Given the description of an element on the screen output the (x, y) to click on. 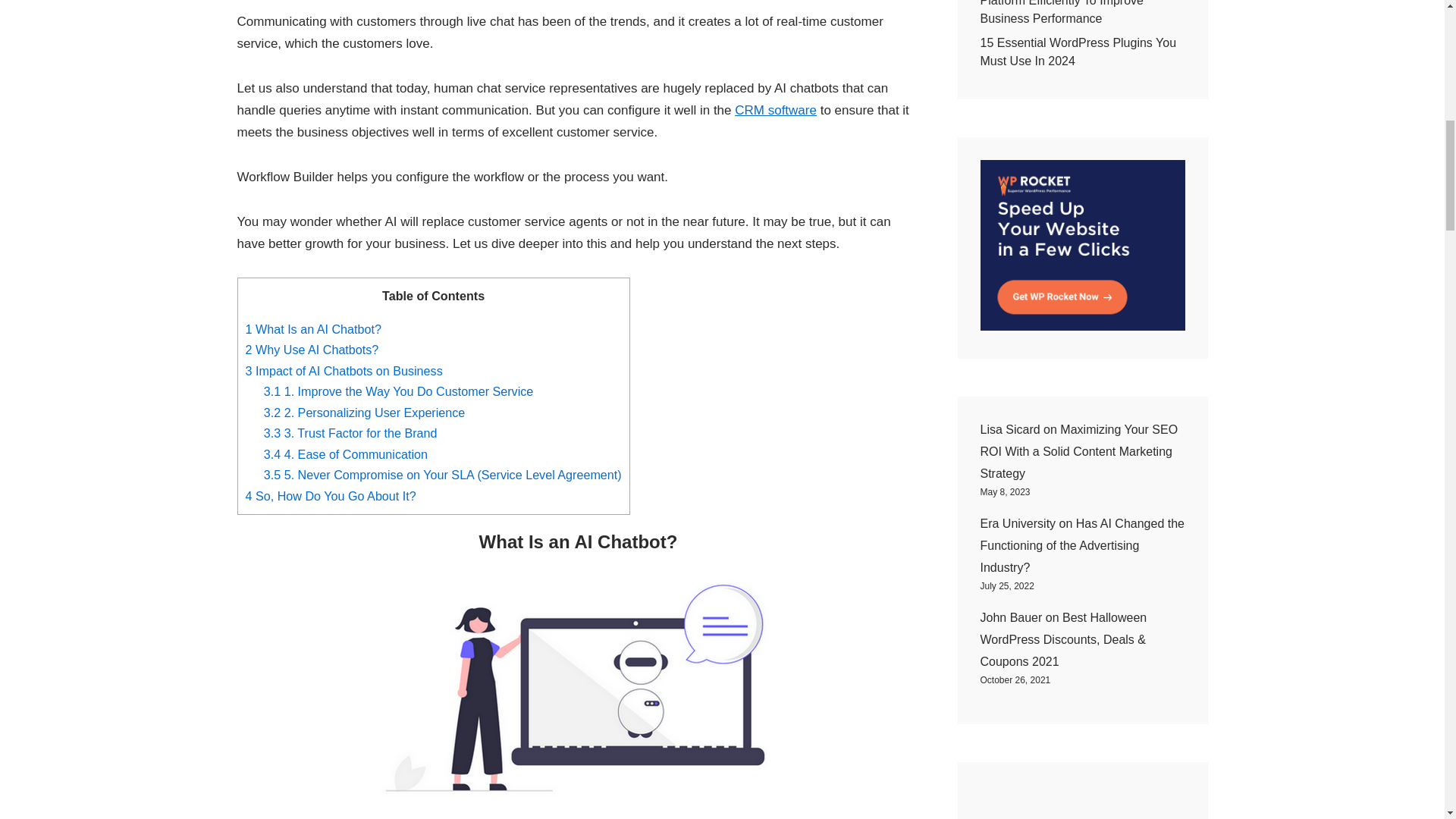
CRM software (775, 110)
4 So, How Do You Go About It? (331, 495)
3.1 1. Improve the Way You Do Customer Service (398, 391)
2 Why Use AI Chatbots? (312, 349)
3 Impact of AI Chatbots on Business (344, 370)
What Is an AI Chatbot? (577, 686)
3.4 4. Ease of Communication (345, 454)
3.3 3. Trust Factor for the Brand (350, 432)
3.2 2. Personalizing User Experience (364, 412)
1 What Is an AI Chatbot? (313, 328)
